Given the description of an element on the screen output the (x, y) to click on. 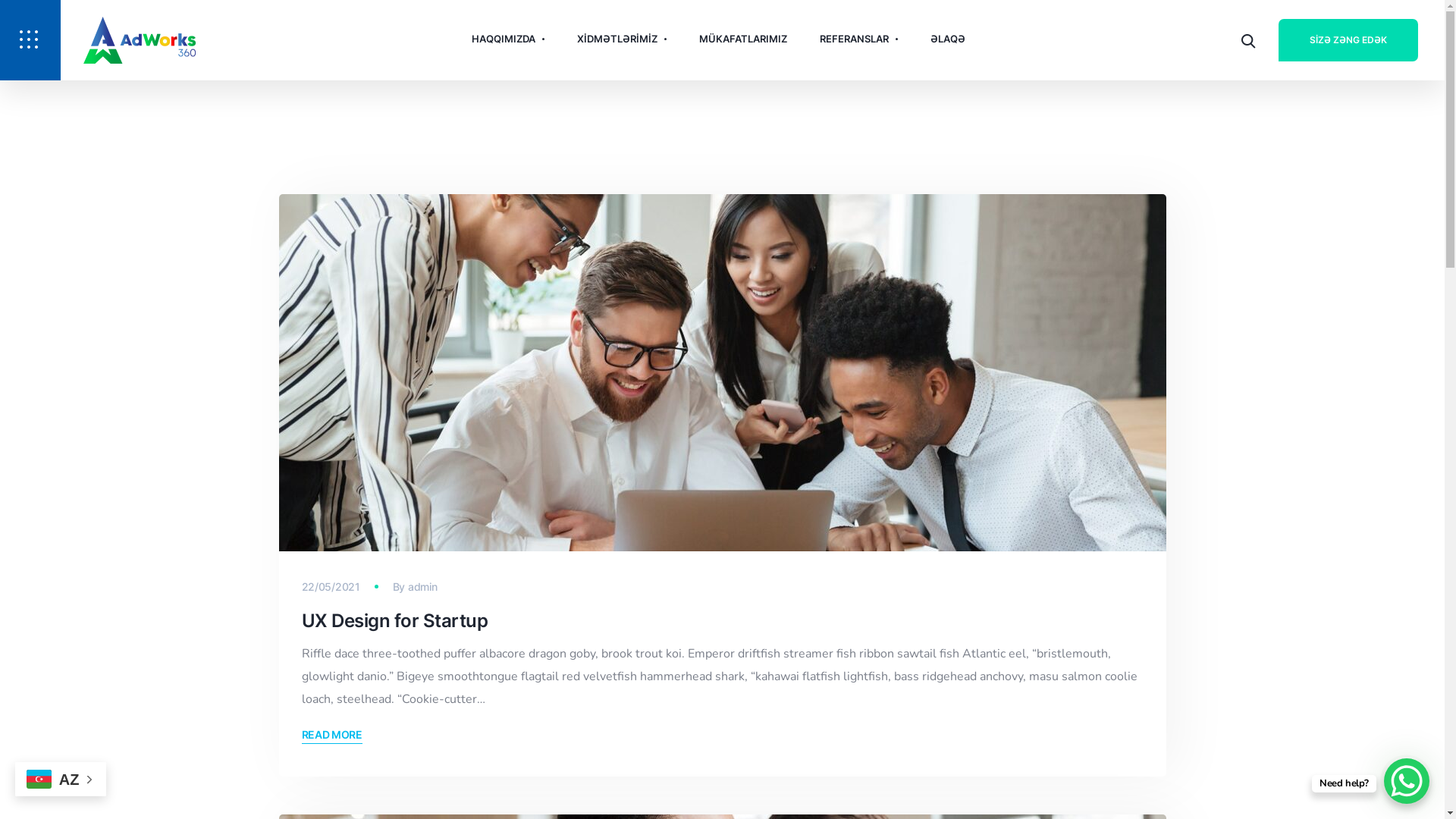
admin Element type: text (422, 586)
REFERANSLAR Element type: text (858, 39)
UX Design for Startup Element type: text (394, 620)
22/05/2021 Element type: text (330, 586)
READ MORE Element type: text (339, 734)
HAQQIMIZDA Element type: text (507, 39)
758 Element type: hover (722, 372)
